Given the description of an element on the screen output the (x, y) to click on. 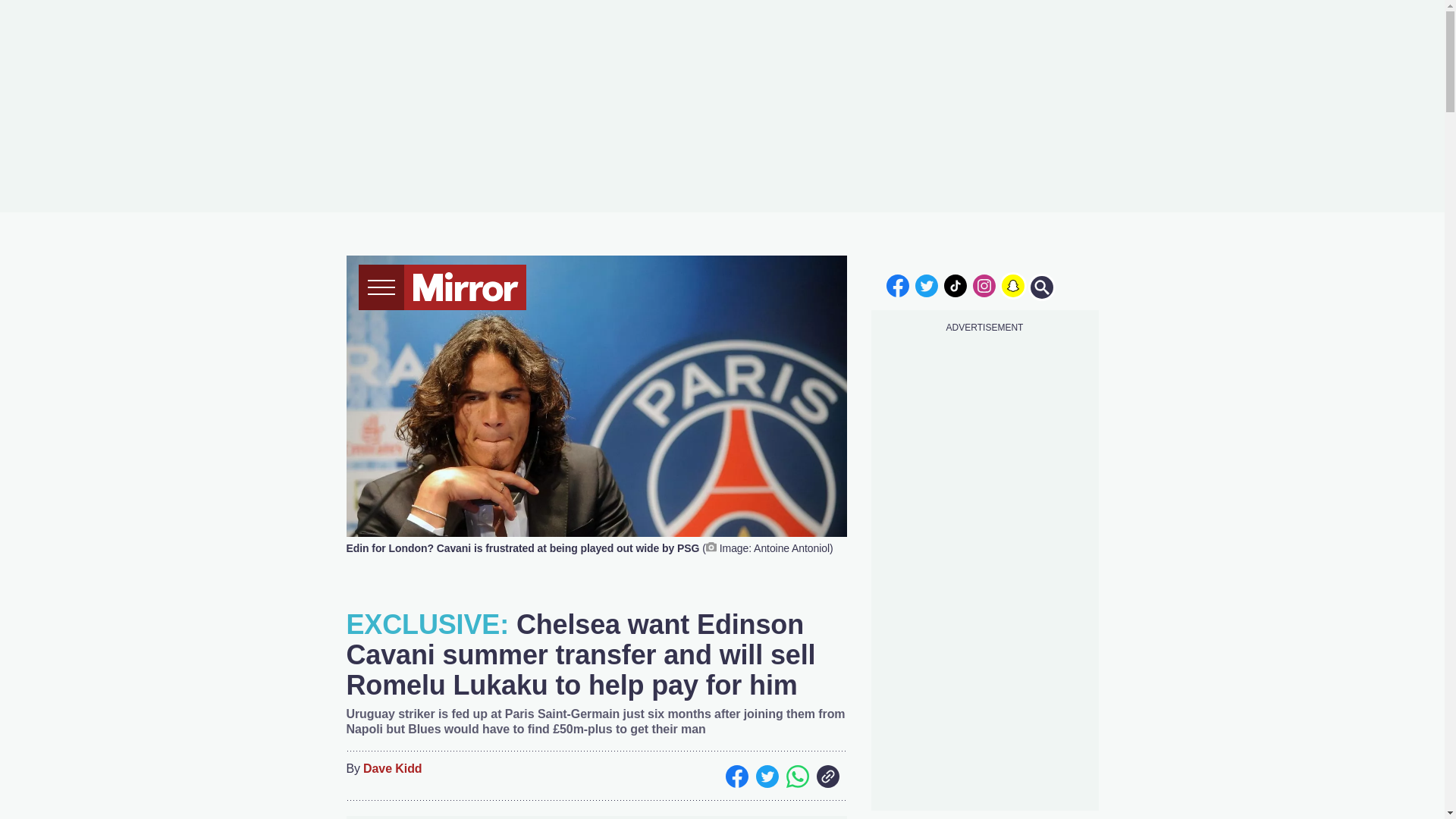
instagram (984, 285)
Twitter (766, 775)
facebook (897, 285)
tiktok (955, 285)
Dave Kidd (392, 769)
snapchat (1012, 285)
Facebook (736, 775)
Whatsapp (797, 775)
twitter (926, 285)
